Given the description of an element on the screen output the (x, y) to click on. 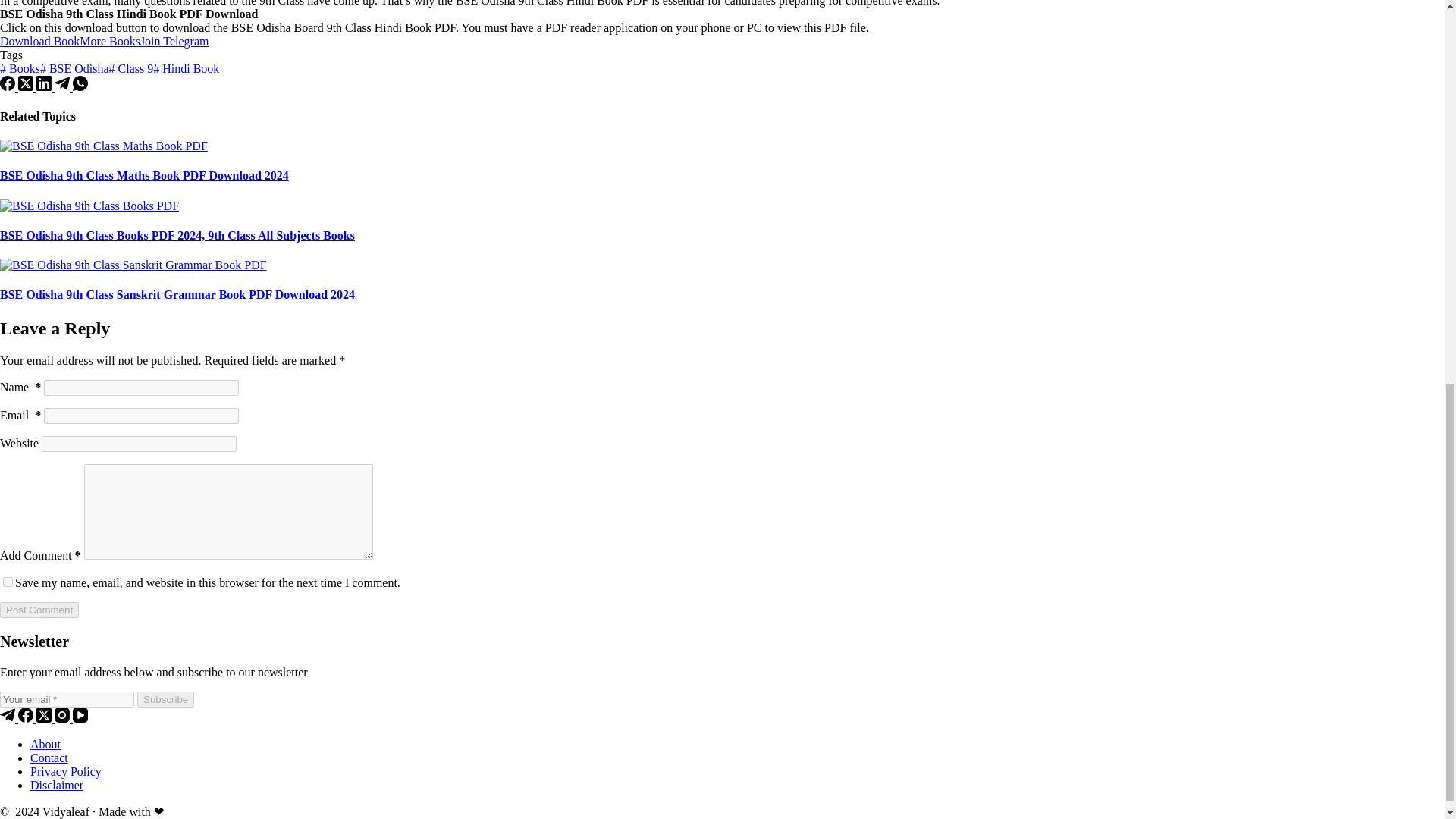
yes (7, 582)
Join Telegram (174, 41)
BSE Odisha 9th Class Maths Book PDF Download 2024 (144, 174)
More Books (109, 41)
Download Book (40, 41)
Email (66, 699)
